Given the description of an element on the screen output the (x, y) to click on. 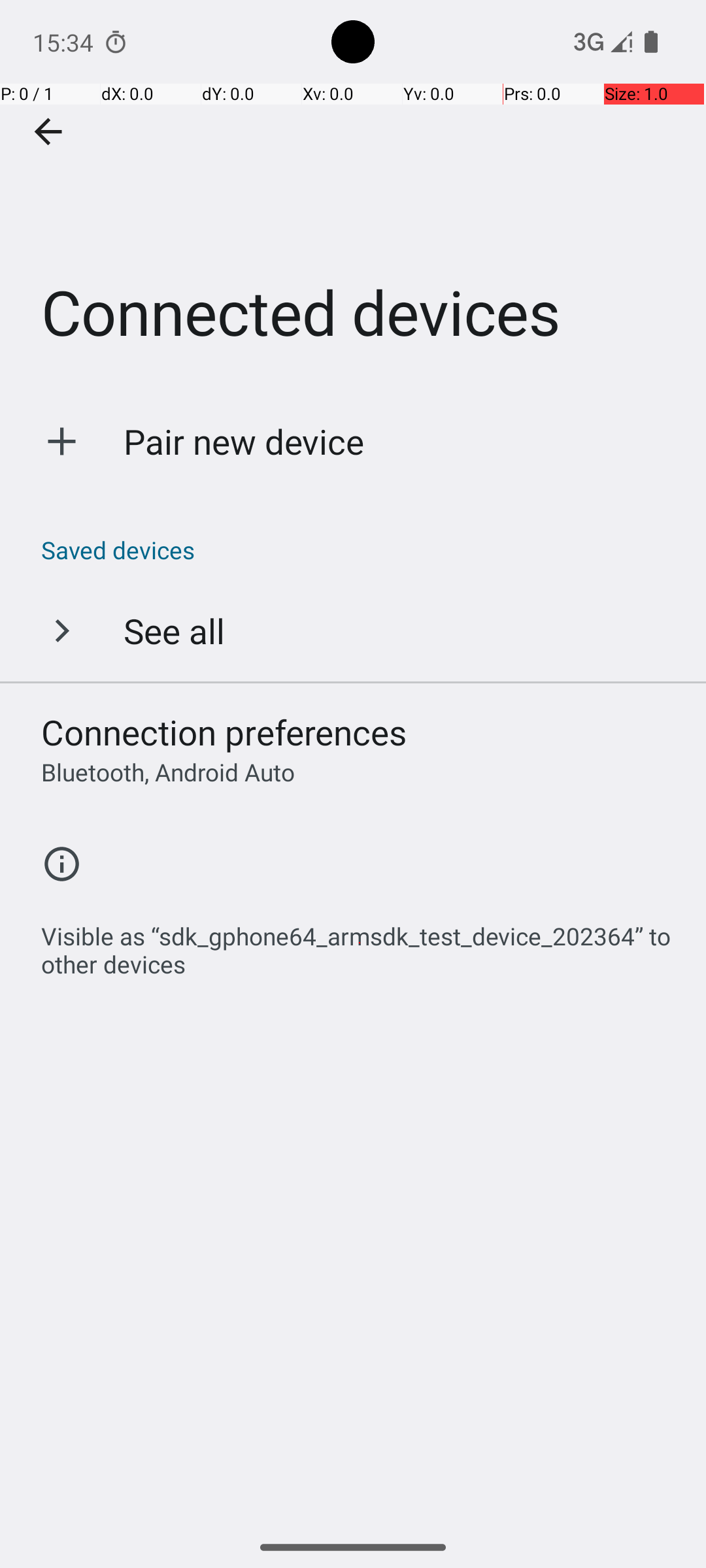
Visible as “sdk_gphone64_armsdk_test_device_202364” to other devices Element type: android.widget.TextView (359, 942)
